Given the description of an element on the screen output the (x, y) to click on. 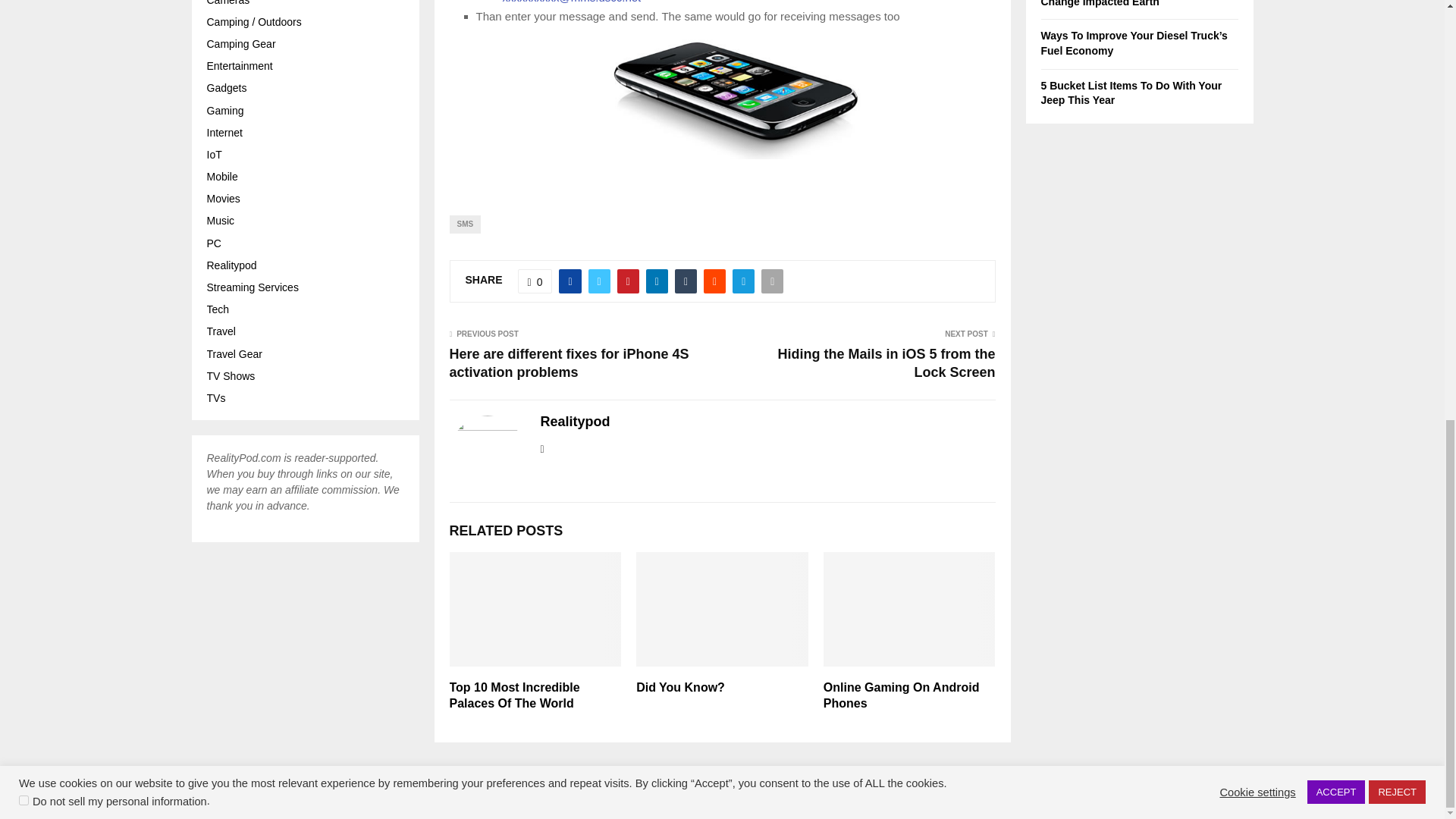
Like (535, 281)
